Given the description of an element on the screen output the (x, y) to click on. 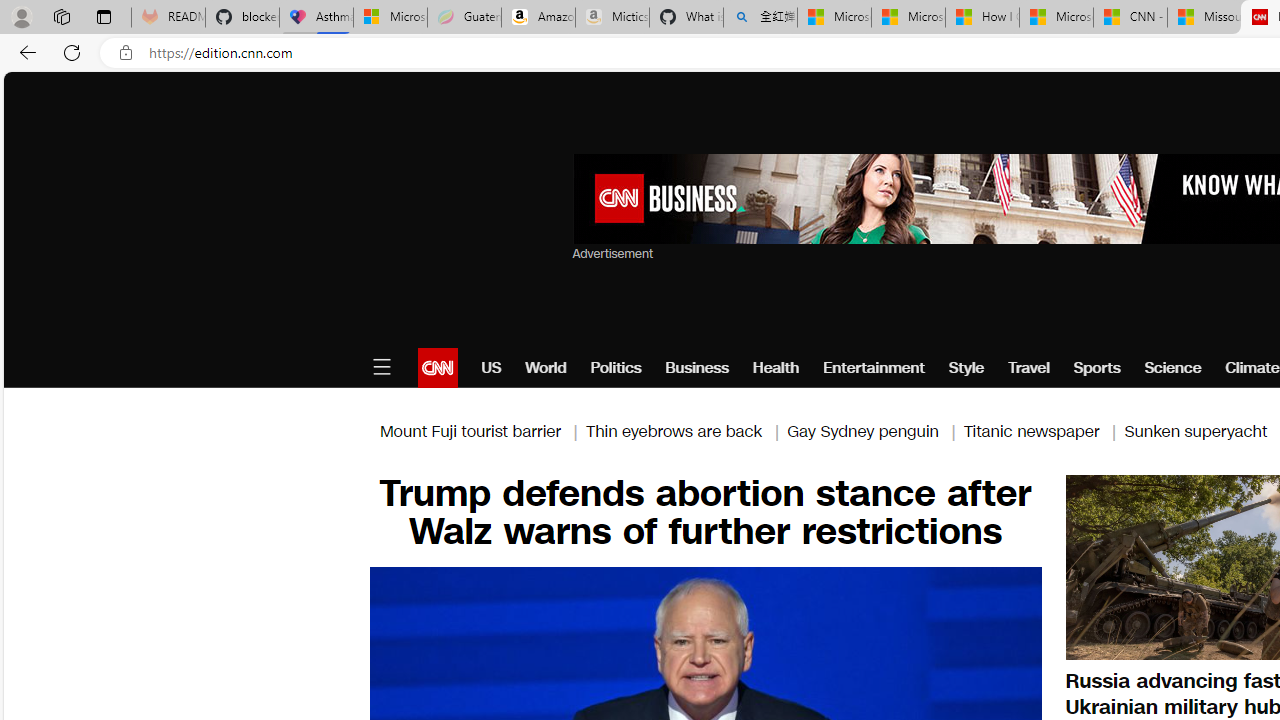
Asthma Inhalers: Names and Types (316, 17)
Thin eyebrows are back | (686, 430)
US (491, 367)
